Given the description of an element on the screen output the (x, y) to click on. 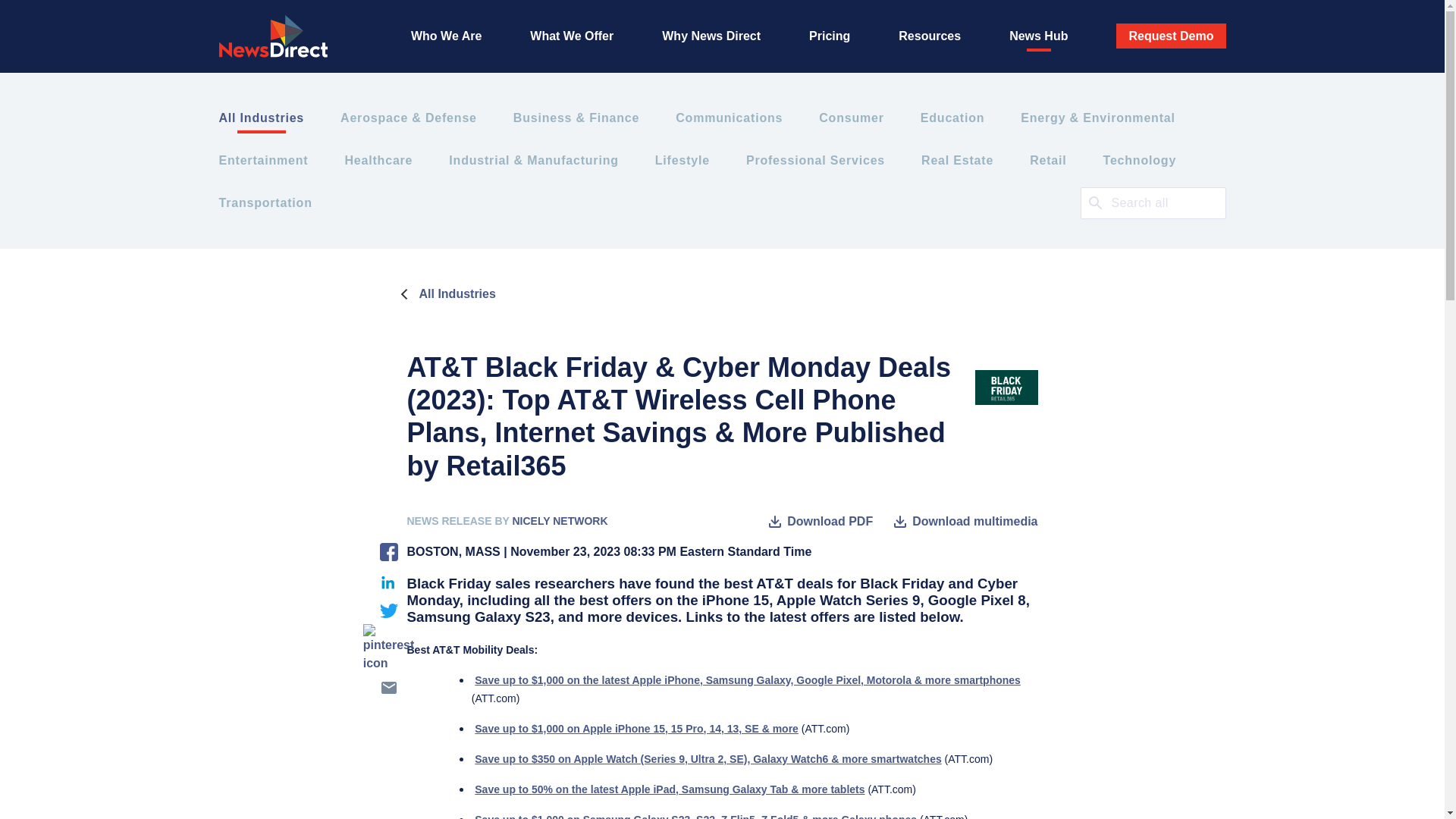
Download PDF (818, 521)
Pricing (829, 36)
Education (952, 117)
Real Estate (956, 160)
Entertainment (262, 160)
Download multimedia (963, 521)
Request Demo (1170, 35)
All Industries (444, 294)
Who We Are (445, 36)
Lifestyle (682, 160)
Consumer (850, 117)
Professional Services (815, 160)
Communications (729, 117)
Transportation (264, 203)
All Industries (261, 117)
